Given the description of an element on the screen output the (x, y) to click on. 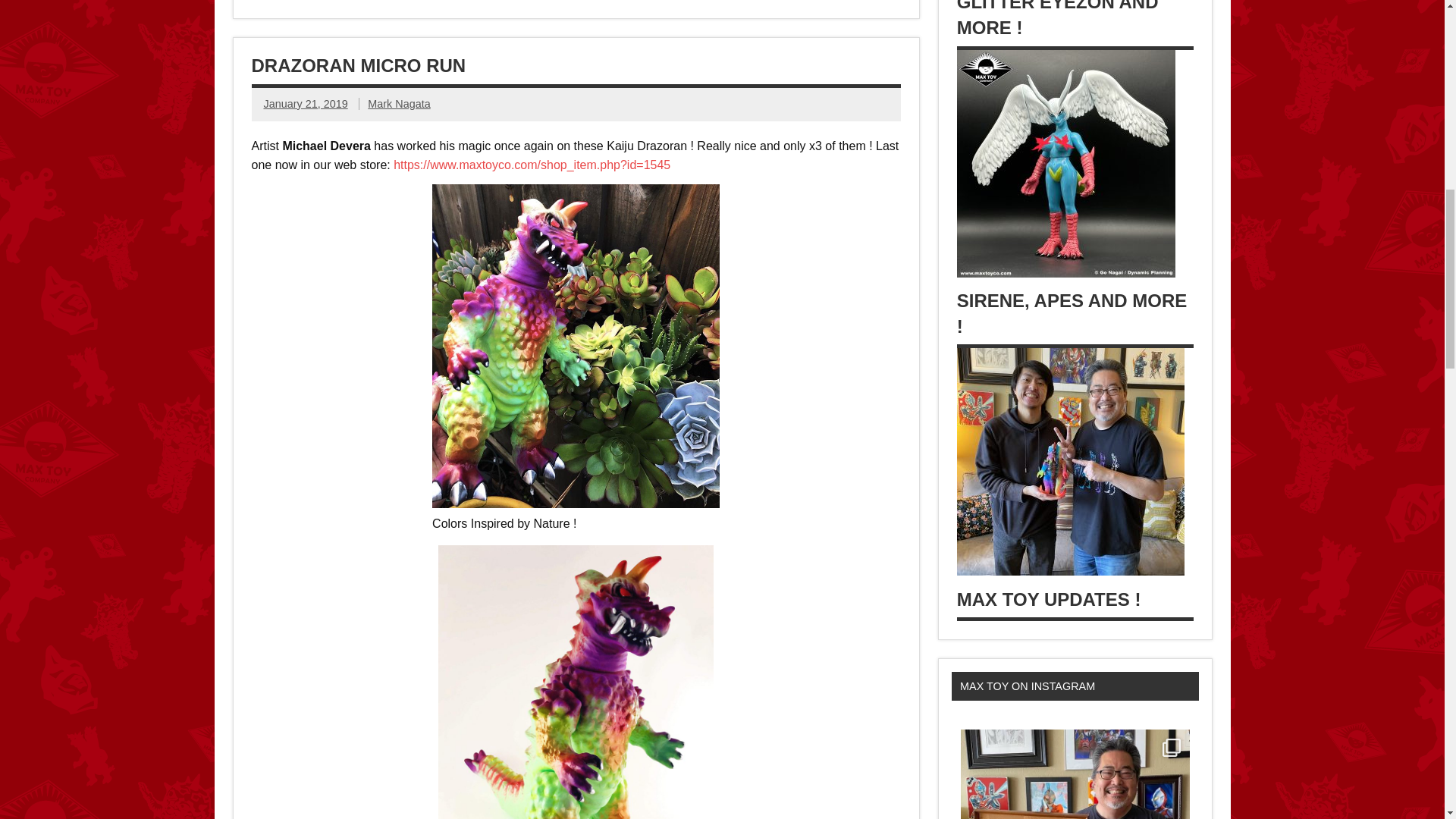
View all posts by Mark Nagata (398, 103)
Max Toy Updates ! (1070, 571)
Sirene, Apes and More ! (1065, 273)
Max Toy Updates ! (1048, 598)
5:01 pm (305, 103)
Sirene, Apes and More ! (1072, 313)
Pre Order Pink Super Glitter Eyezon and More ! (1068, 18)
